Given the description of an element on the screen output the (x, y) to click on. 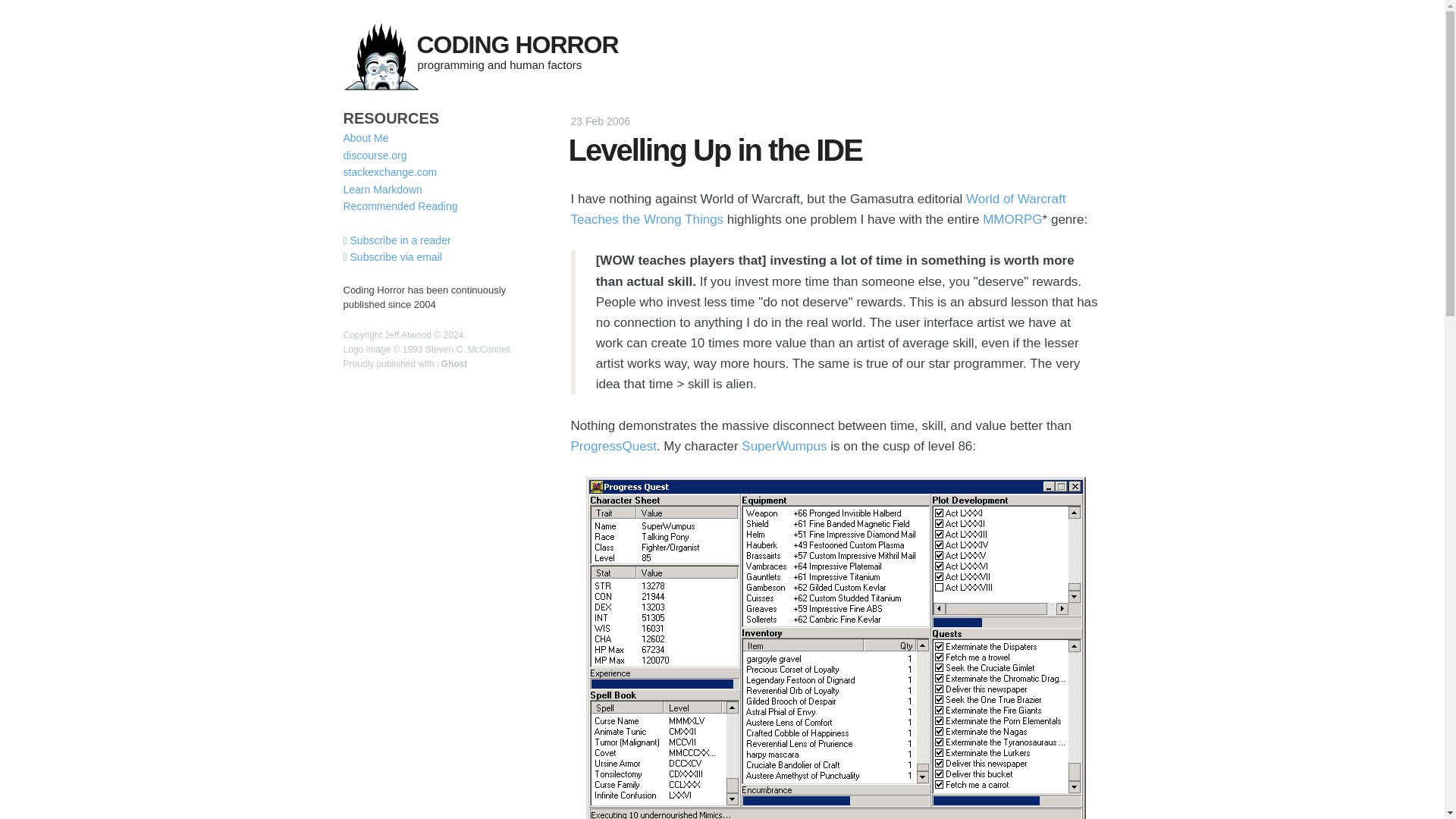
SuperWumpus (784, 445)
stackexchange.com (389, 172)
About Me (365, 137)
Ghost (451, 363)
CODING HORROR (517, 44)
 Subscribe via email (391, 256)
Jeff Atwood (407, 335)
MMORPG (1012, 219)
discourse.org (374, 155)
Recommended Reading (399, 205)
ProgressQuest (613, 445)
Learn Markdown (382, 189)
 Subscribe in a reader (395, 240)
World of Warcraft Teaches the Wrong Things (817, 208)
